Given the description of an element on the screen output the (x, y) to click on. 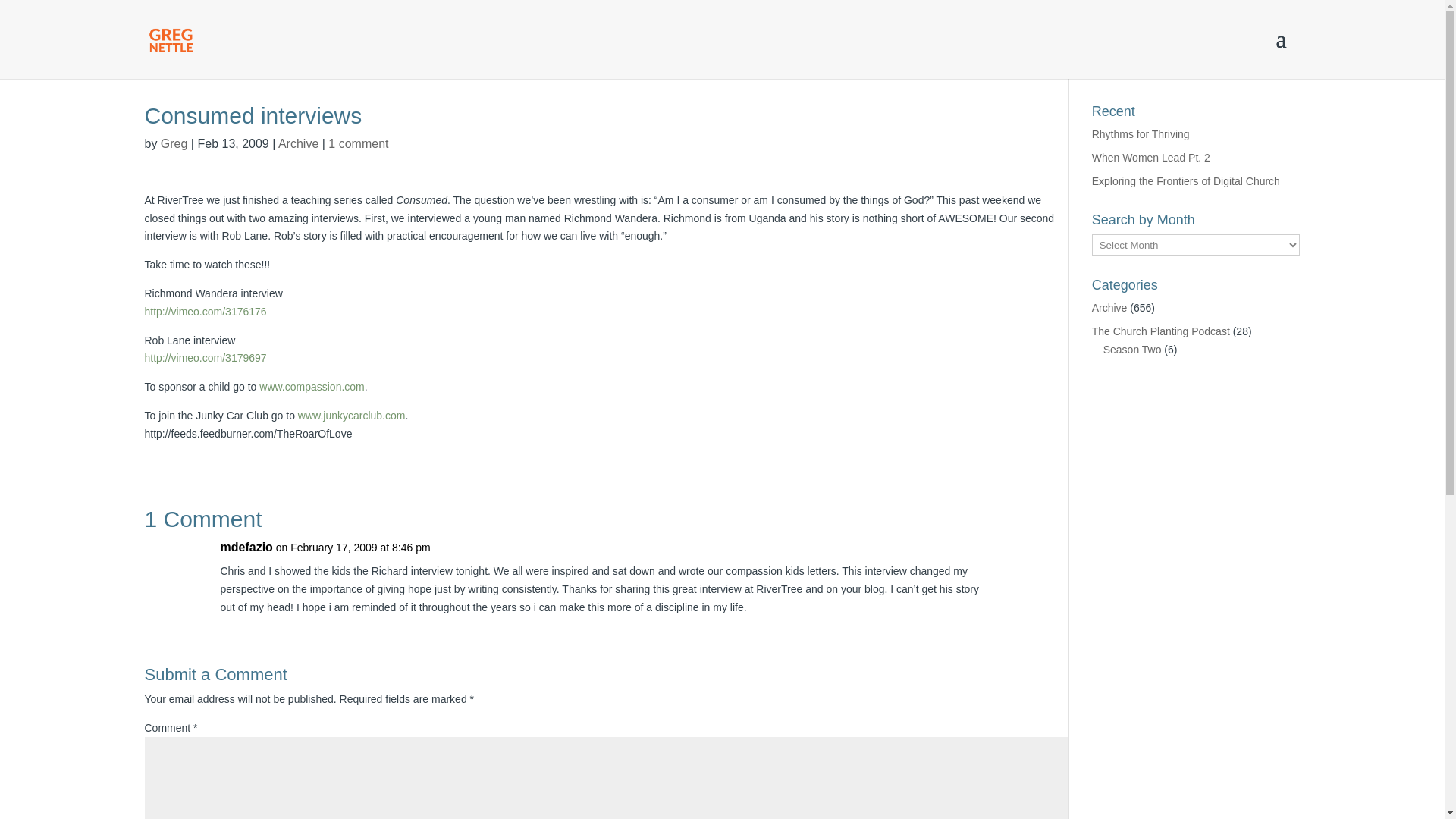
1 comment (358, 143)
Archive (1109, 307)
Season Two (1132, 349)
Greg (173, 143)
www.compassion.com (312, 386)
When Women Lead Pt. 2 (1150, 157)
Exploring the Frontiers of Digital Church (1185, 181)
The Church Planting Podcast (1161, 331)
Archive (298, 143)
www.junkycarclub.com (352, 415)
